Given the description of an element on the screen output the (x, y) to click on. 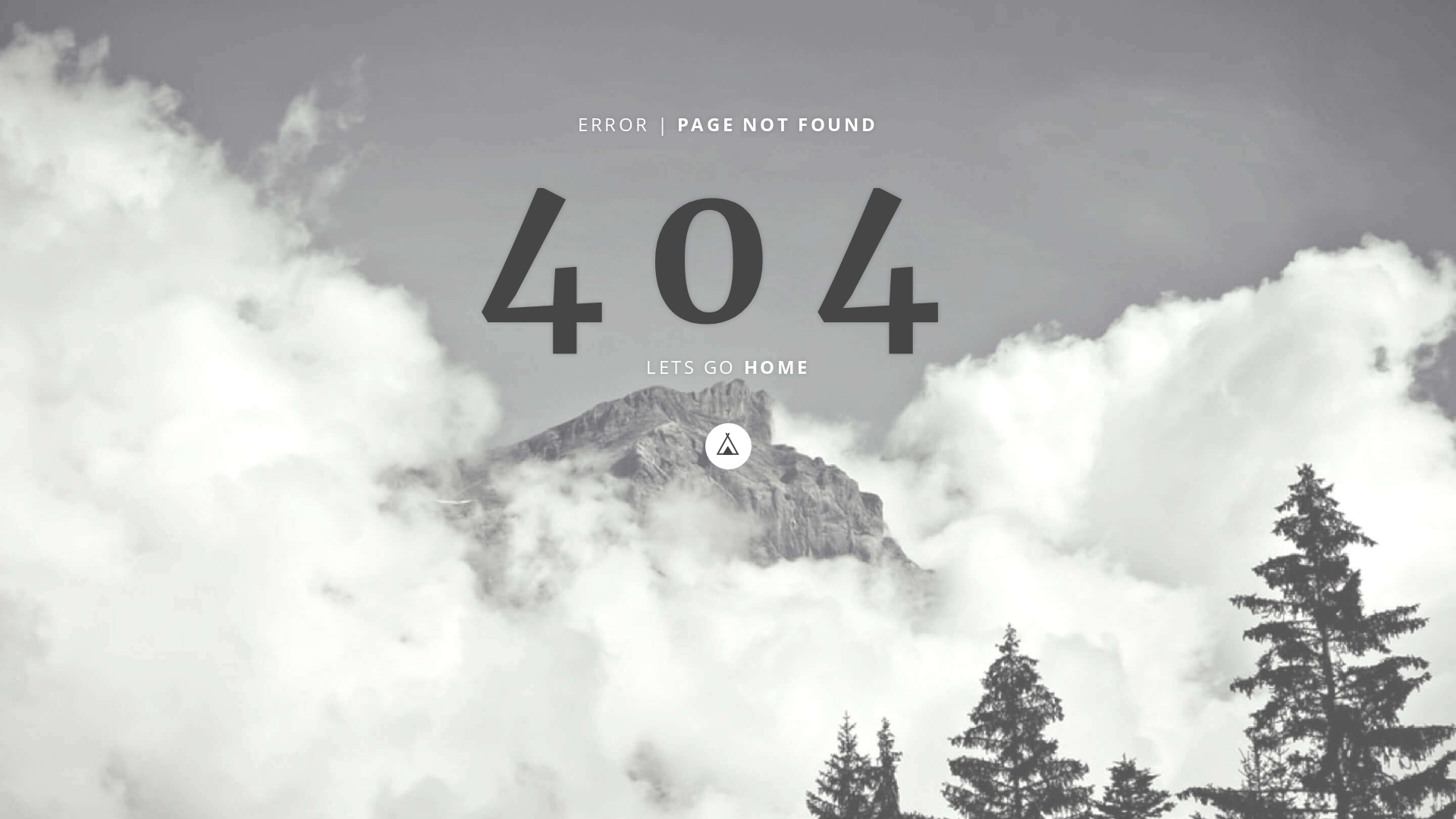
Search Element type: text (1105, 32)
